Given the description of an element on the screen output the (x, y) to click on. 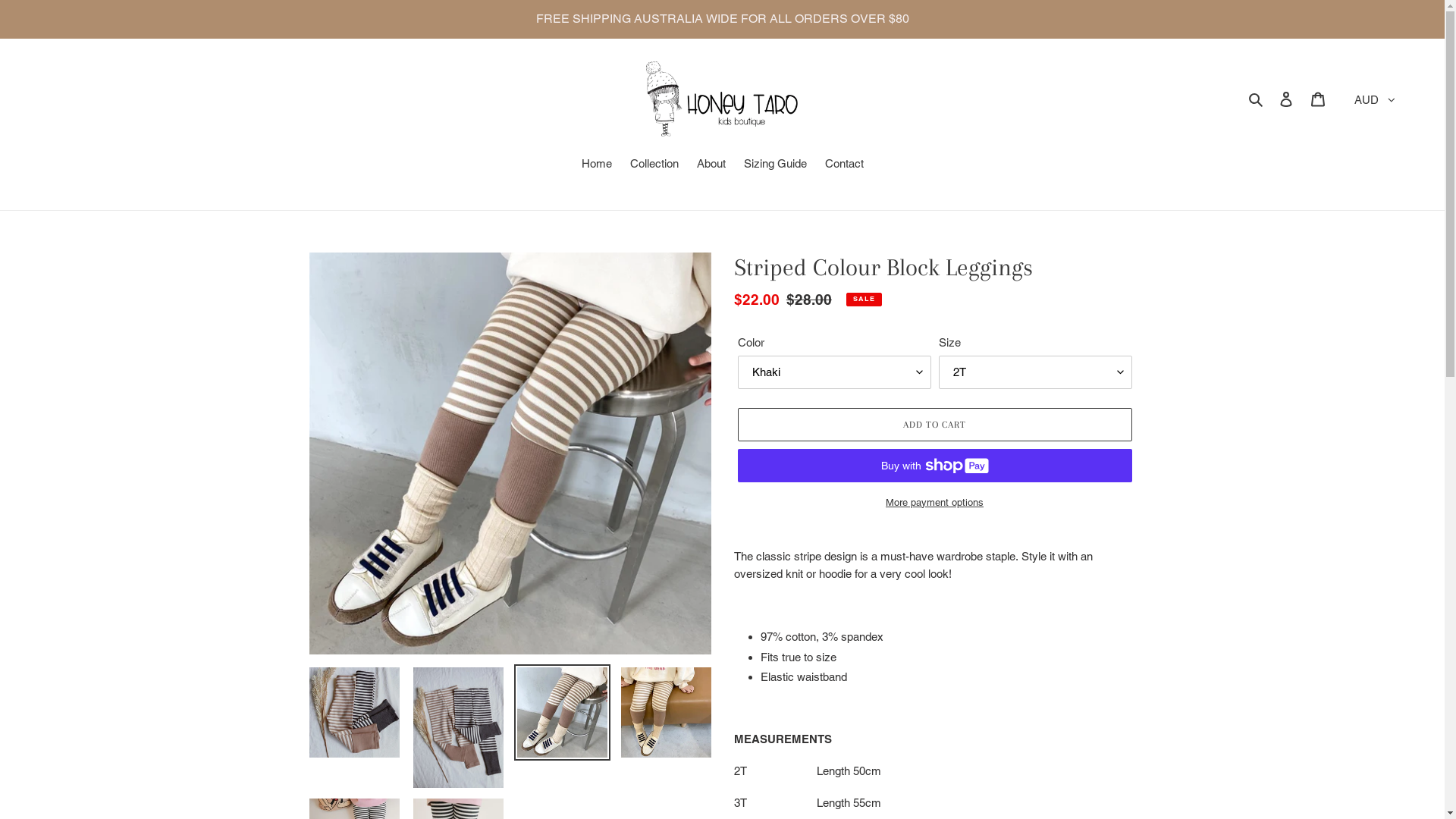
Contact Element type: text (844, 165)
ADD TO CART Element type: text (934, 424)
Cart Element type: text (1317, 98)
Collection Element type: text (653, 165)
Sizing Guide Element type: text (774, 165)
Search Element type: text (1256, 98)
About Element type: text (710, 165)
Log in Element type: text (1286, 98)
More payment options Element type: text (934, 502)
Home Element type: text (595, 165)
